Given the description of an element on the screen output the (x, y) to click on. 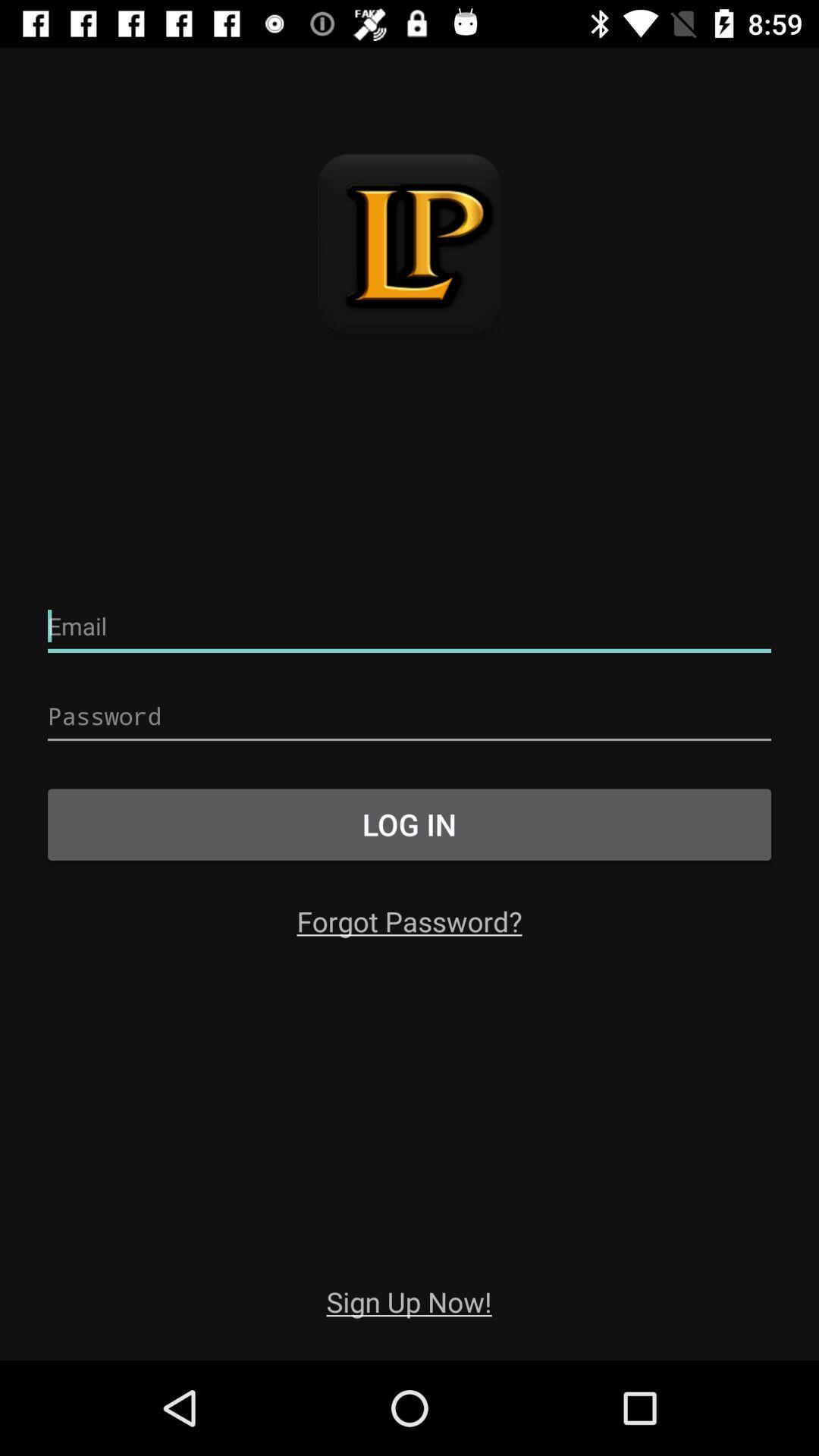
email entry (409, 626)
